Given the description of an element on the screen output the (x, y) to click on. 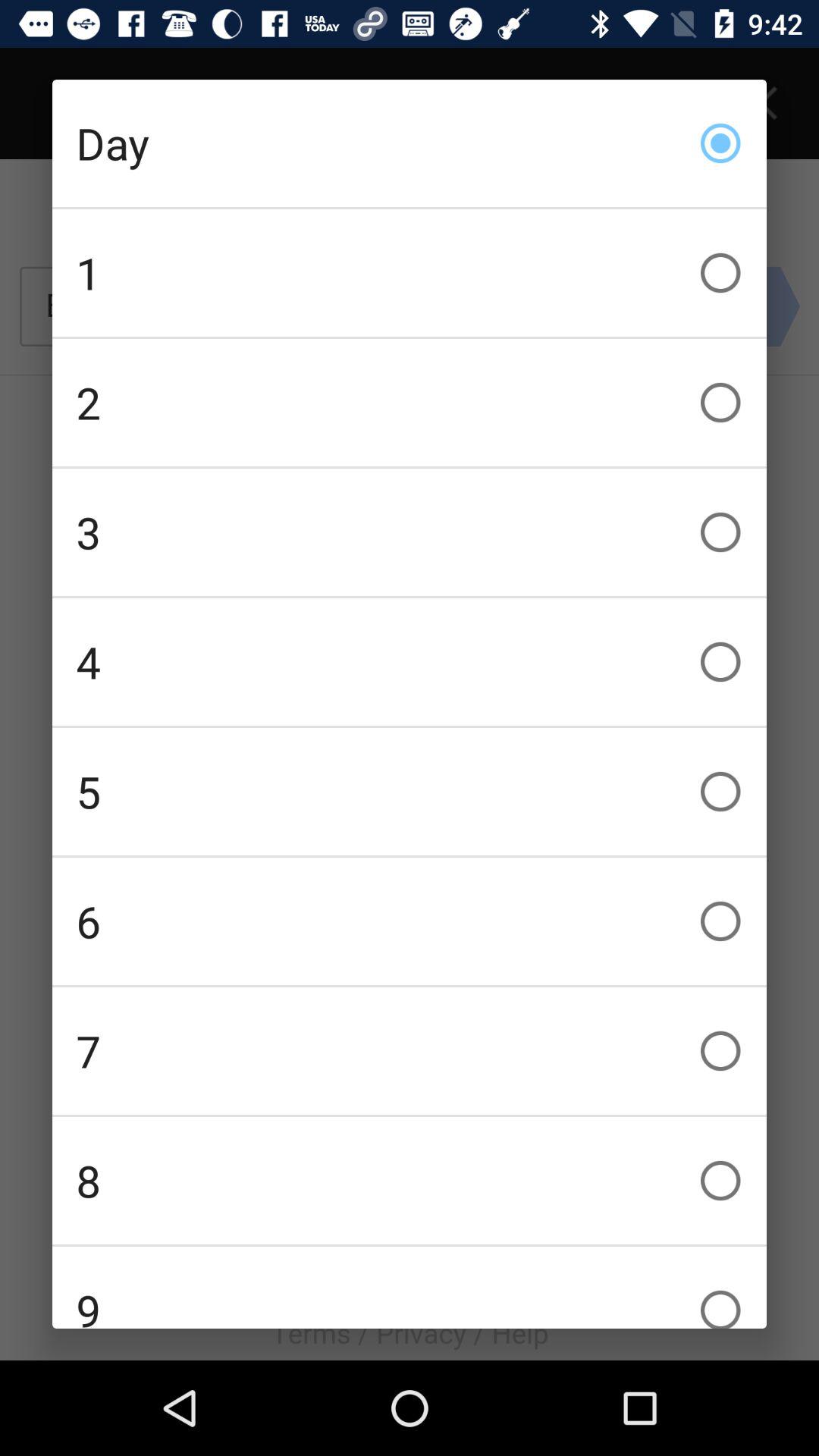
turn on 1 checkbox (409, 272)
